Given the description of an element on the screen output the (x, y) to click on. 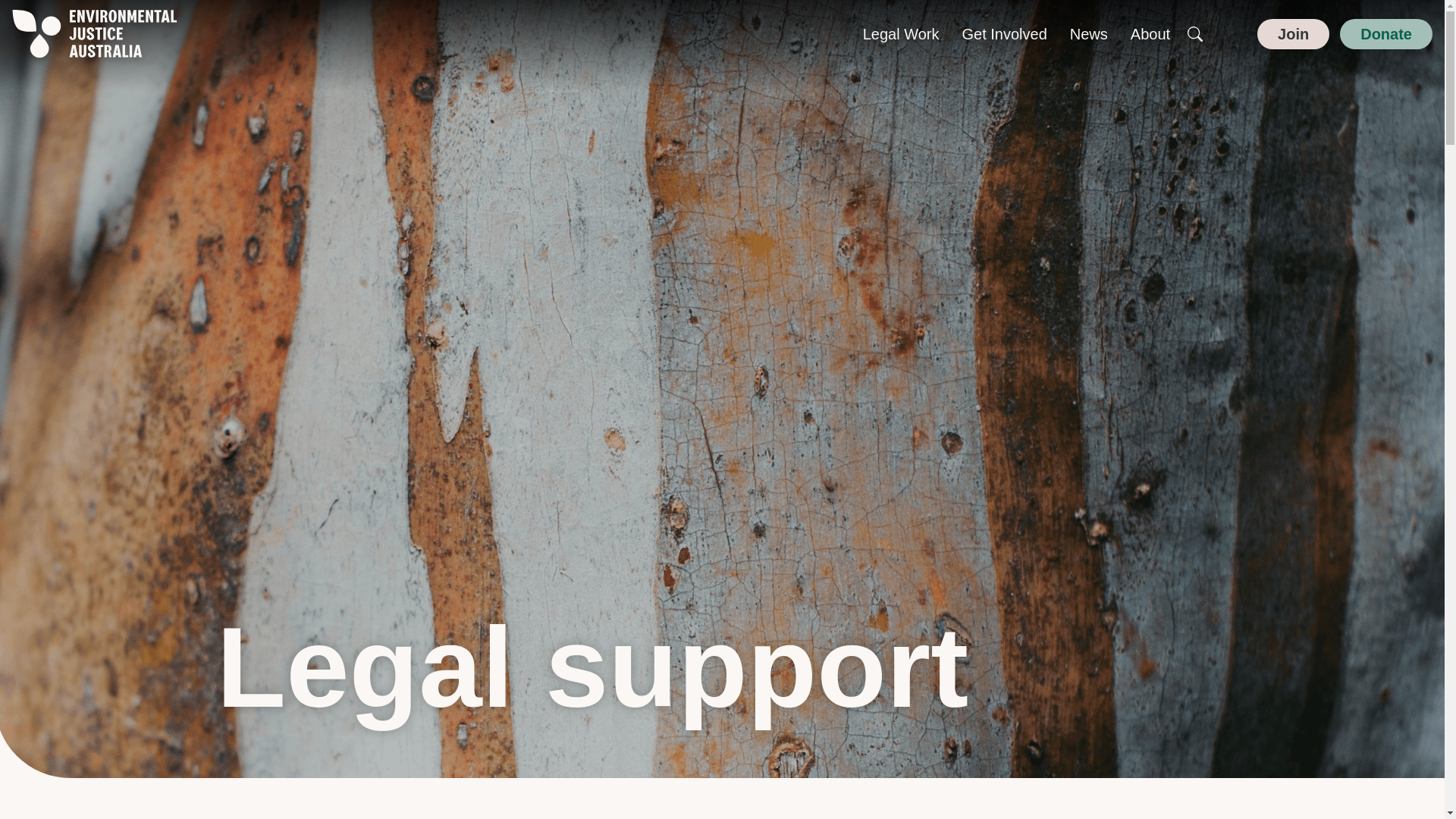
Join (1293, 33)
News (1088, 34)
Legal Work (900, 34)
Legal Work (900, 34)
Get Involved (1004, 34)
Search (1195, 33)
News (1088, 34)
About (1149, 34)
Get Involved (1004, 34)
Donate (1385, 33)
